Given the description of an element on the screen output the (x, y) to click on. 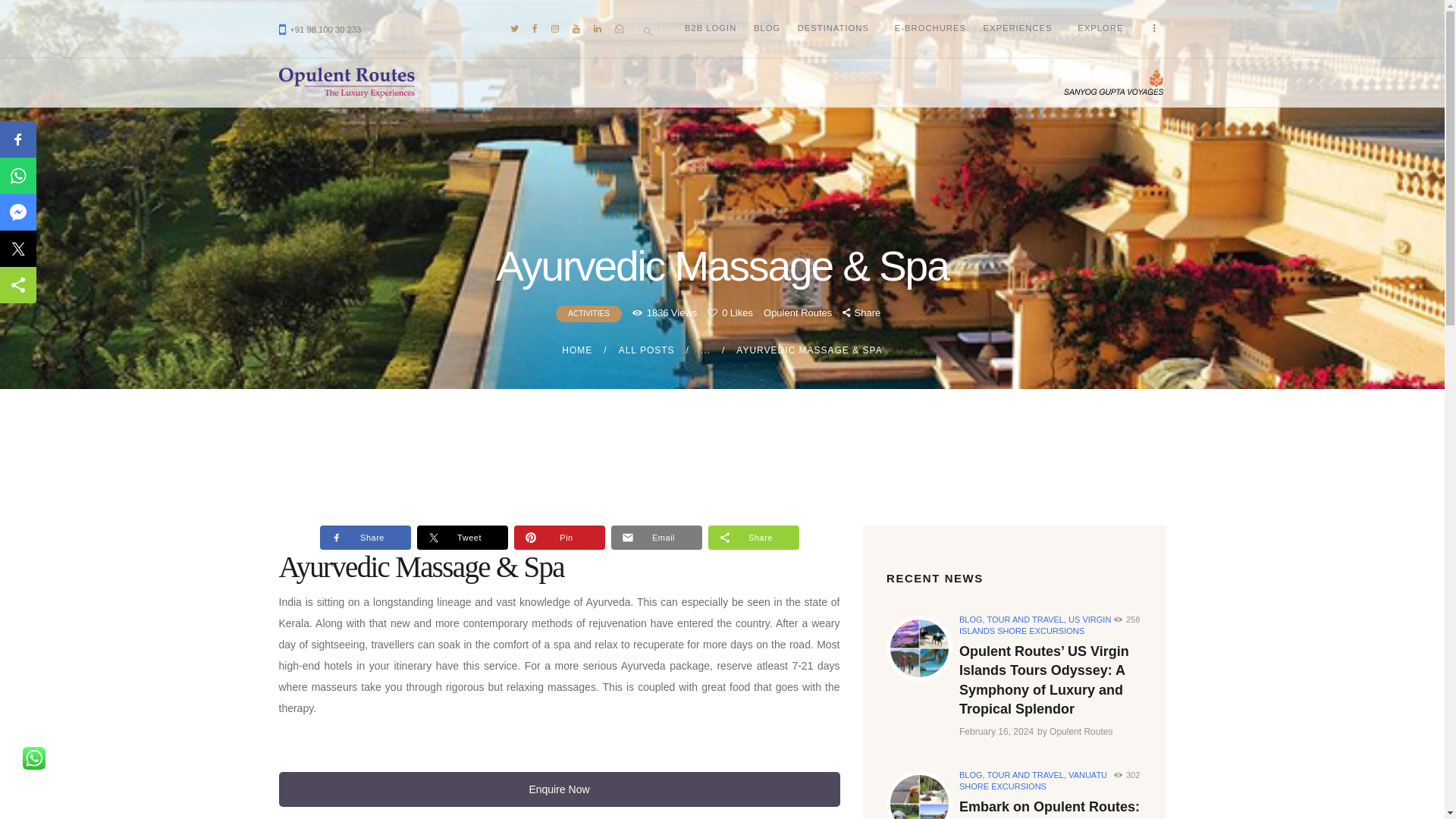
View all posts in Tour and Travel (1025, 774)
BLOG (767, 28)
Like (729, 312)
B2B LOGIN (711, 28)
EXPERIENCES (1021, 28)
View all posts in Vanuatu Shore Excursions (1032, 780)
View all posts in Blog (970, 774)
DESTINATIONS (837, 28)
E-BROCHURES (930, 28)
View all posts in Blog (970, 619)
View all posts in Tour and Travel (1025, 619)
EXPLORE (1104, 28)
View all posts in US Virgin Islands Shore Excursions (1034, 625)
